Given the description of an element on the screen output the (x, y) to click on. 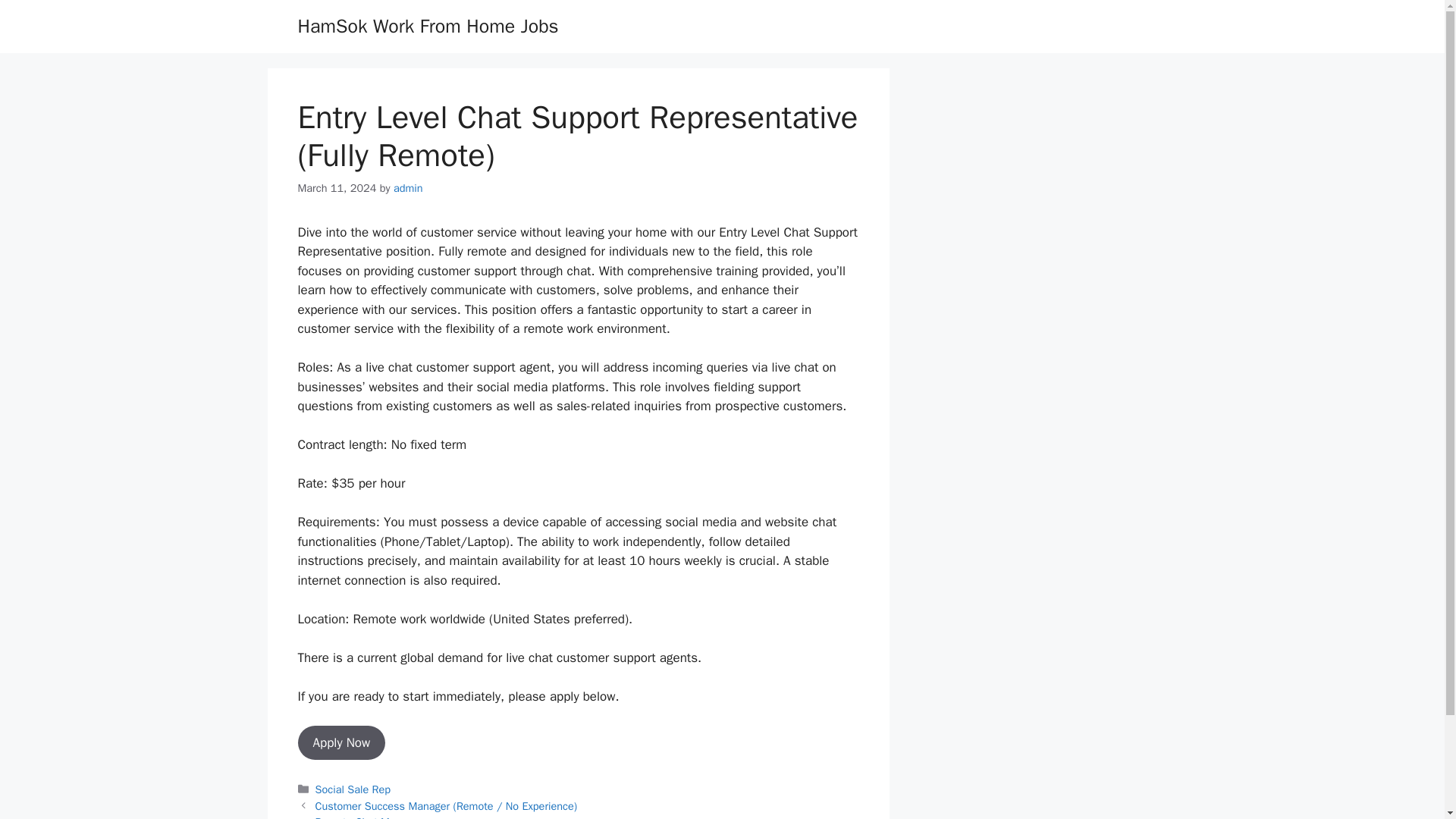
Apply Now (341, 742)
Remote Chat Manager (368, 816)
admin (408, 187)
HamSok Work From Home Jobs (427, 25)
View all posts by admin (408, 187)
Social Sale Rep (352, 789)
